Given the description of an element on the screen output the (x, y) to click on. 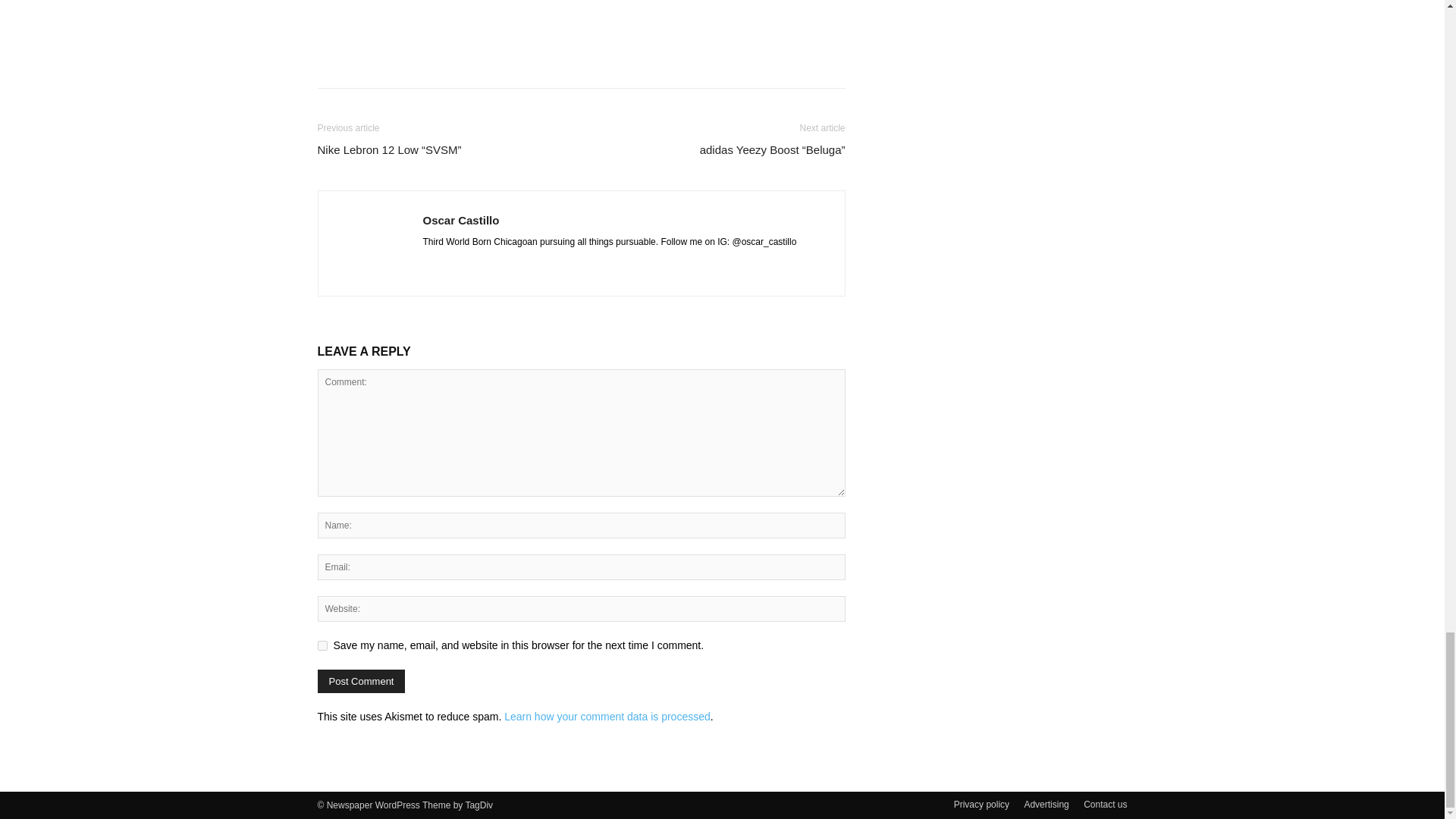
Post Comment (360, 680)
yes (321, 645)
bottomFacebookLike (430, 23)
